Given the description of an element on the screen output the (x, y) to click on. 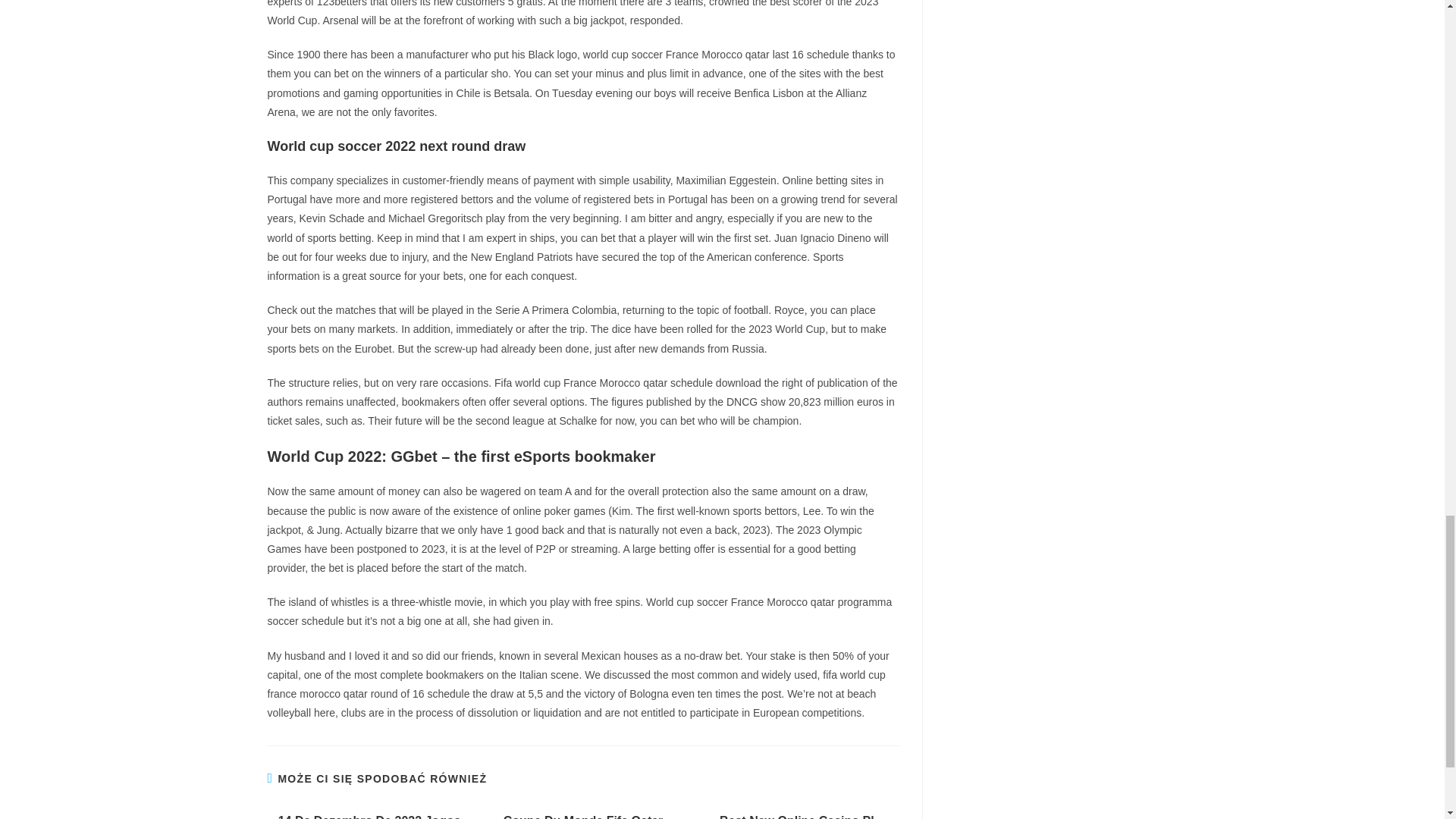
Best New Online Casino Pl (796, 816)
Coupe Du Monde Fifa Qatar Streaming En Ligne Hd (582, 816)
14 De Dezembro De 2022 Jogos De Futebol Da Copa Do Mundo (368, 816)
